Given the description of an element on the screen output the (x, y) to click on. 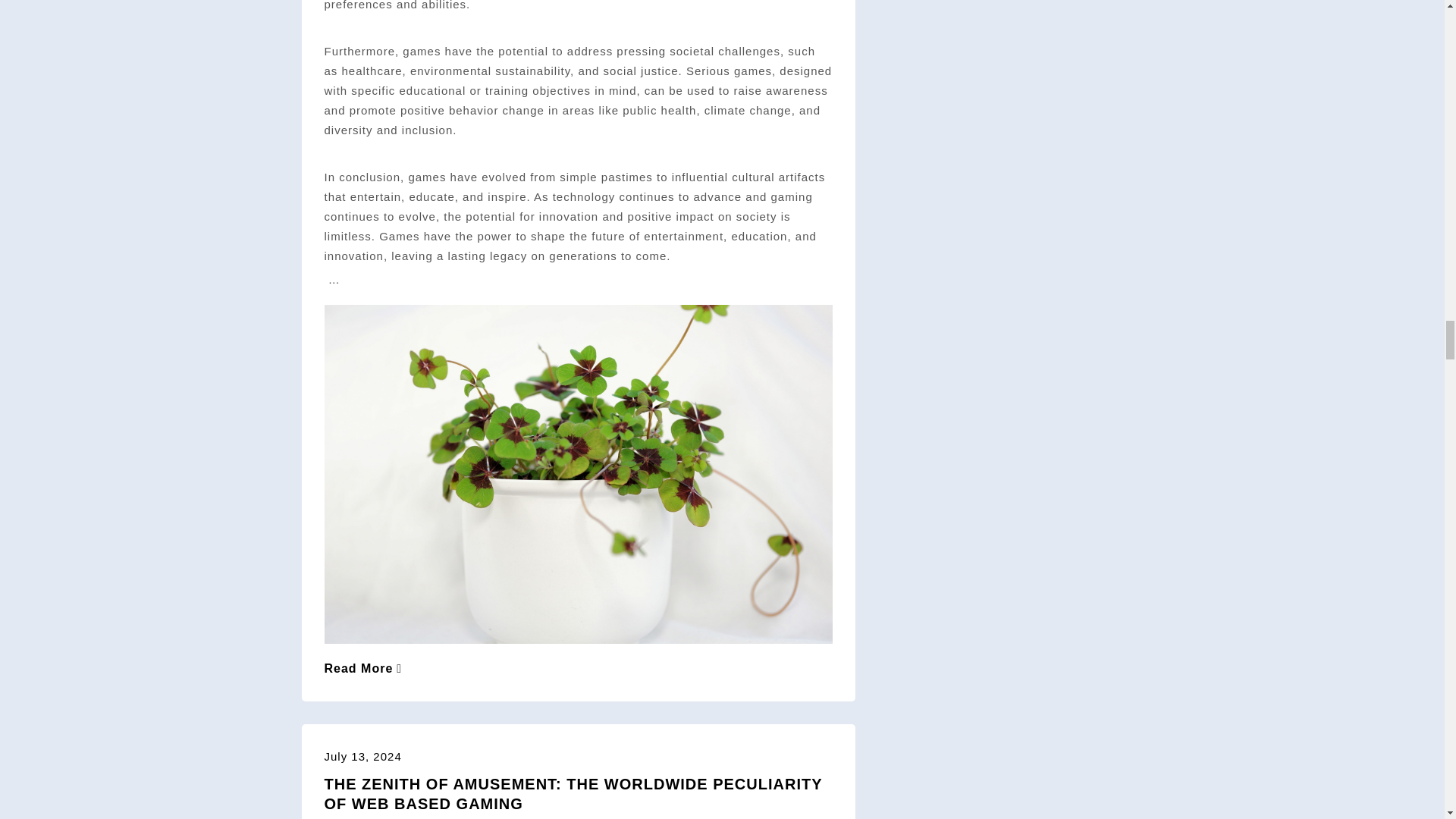
July 13, 2024 (362, 756)
Read More (363, 667)
